Given the description of an element on the screen output the (x, y) to click on. 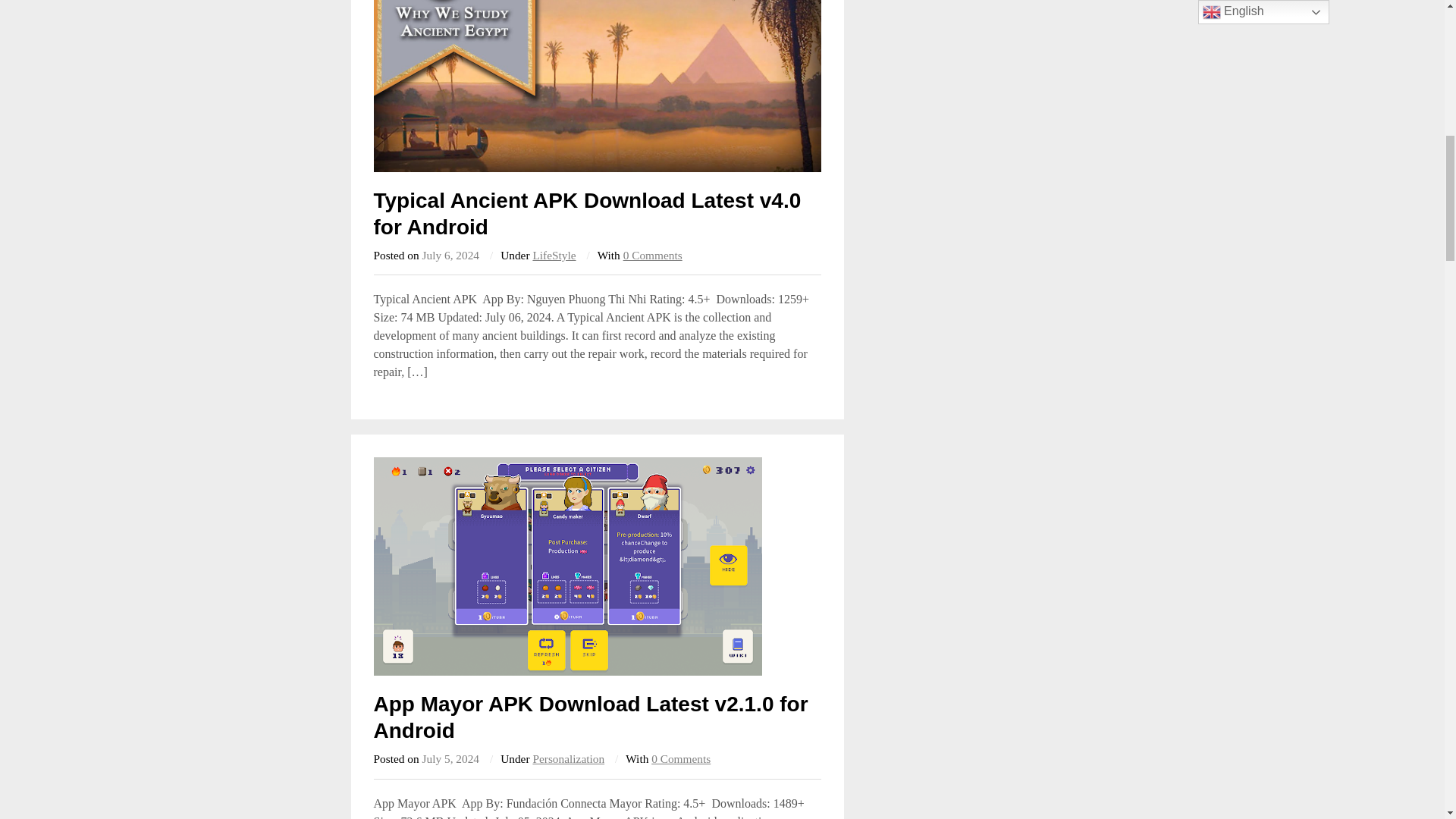
LifeStyle (553, 254)
Personalization (568, 758)
Personalization (568, 758)
0 Comments (652, 254)
App Mayor APK Download Latest v2.1.0 for Android (596, 566)
0 Comments (680, 758)
Typical Ancient APK Download Latest v4.0 for Android (596, 85)
LifeStyle (553, 254)
Typical Ancient APK Download Latest v4.0 for Android (586, 214)
Typical Ancient APK Download Latest v4.0 for Android (586, 214)
App Mayor APK Download Latest v2.1.0 for Android (590, 717)
App Mayor APK Download Latest v2.1.0 for Android (590, 717)
